Given the description of an element on the screen output the (x, y) to click on. 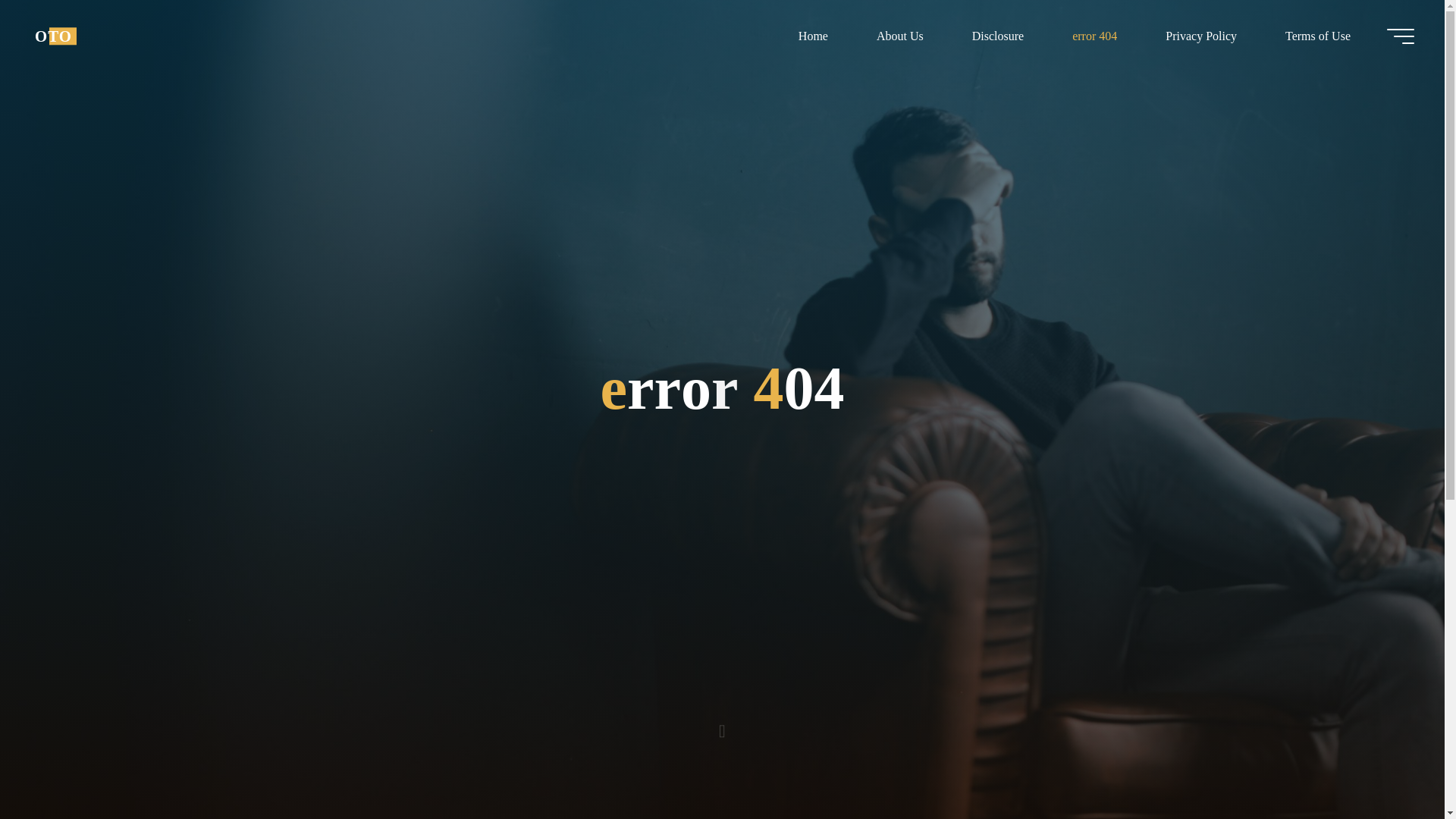
Disclosure (997, 35)
About Us (899, 35)
Terms of Use (1317, 35)
Privacy Policy (1200, 35)
Home (812, 35)
error 404 (1094, 35)
OTO (53, 36)
Read more (721, 724)
